Given the description of an element on the screen output the (x, y) to click on. 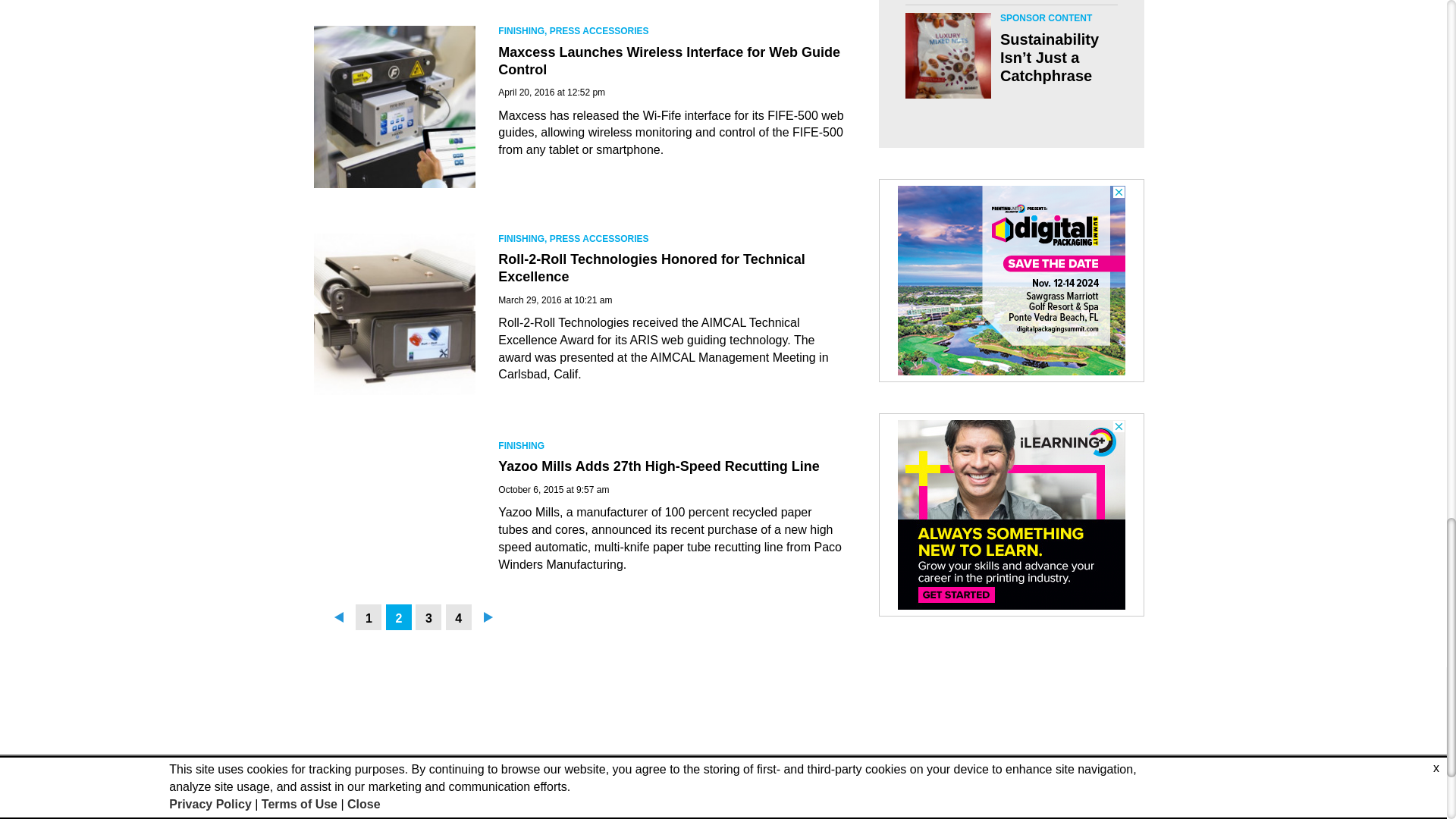
3rd party ad content (1011, 514)
Opens in a new window (731, 795)
3rd party ad content (1011, 280)
Opens in a new window (731, 811)
Opens in a new window (1065, 779)
Opens in a new window (1065, 806)
